Given the description of an element on the screen output the (x, y) to click on. 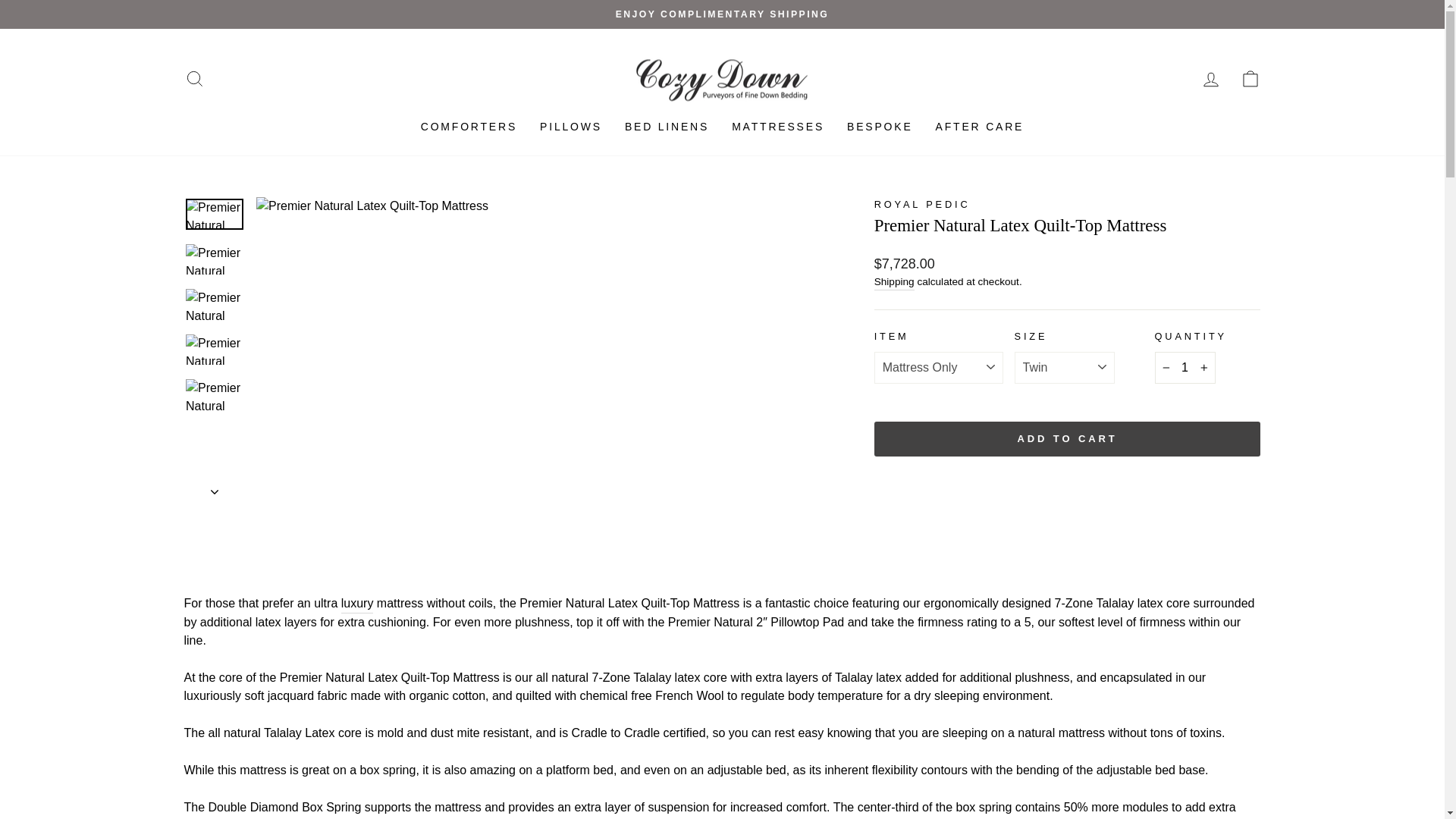
Royal Pedic (923, 204)
1 (1184, 368)
